Given the description of an element on the screen output the (x, y) to click on. 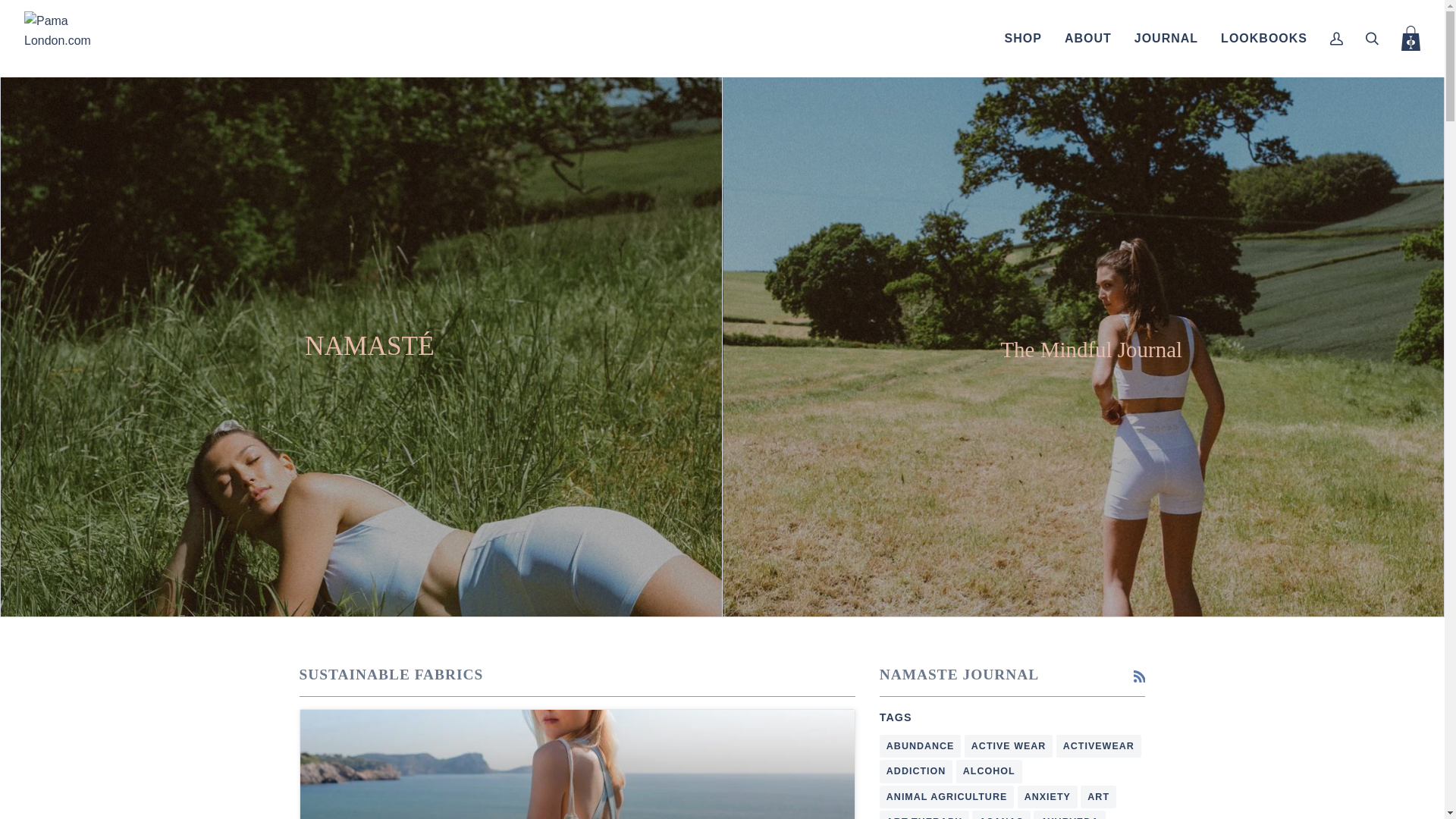
ABOUT (1087, 38)
LOOKBOOKS (1264, 38)
JOURNAL (1165, 38)
